Given the description of an element on the screen output the (x, y) to click on. 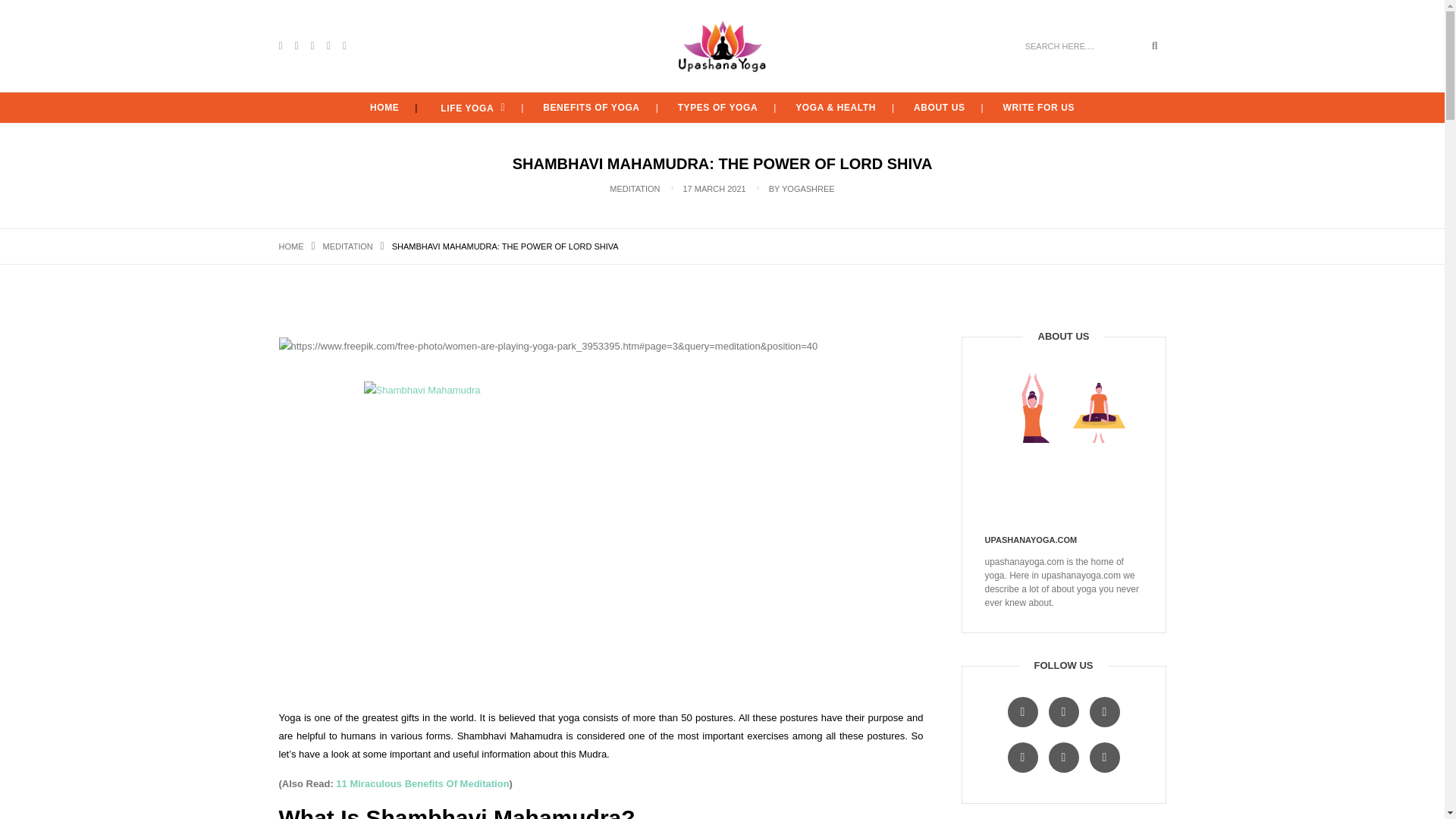
LIFE YOGA (470, 107)
ABOUT US (939, 107)
11 Miraculous Benefits Of Meditation (422, 783)
YOGASHREE (807, 188)
TYPES OF YOGA (718, 107)
Browse to: Home (291, 245)
Meditation (347, 245)
Search (1155, 45)
MEDITATION (347, 245)
WRITE FOR US (1039, 107)
